Given the description of an element on the screen output the (x, y) to click on. 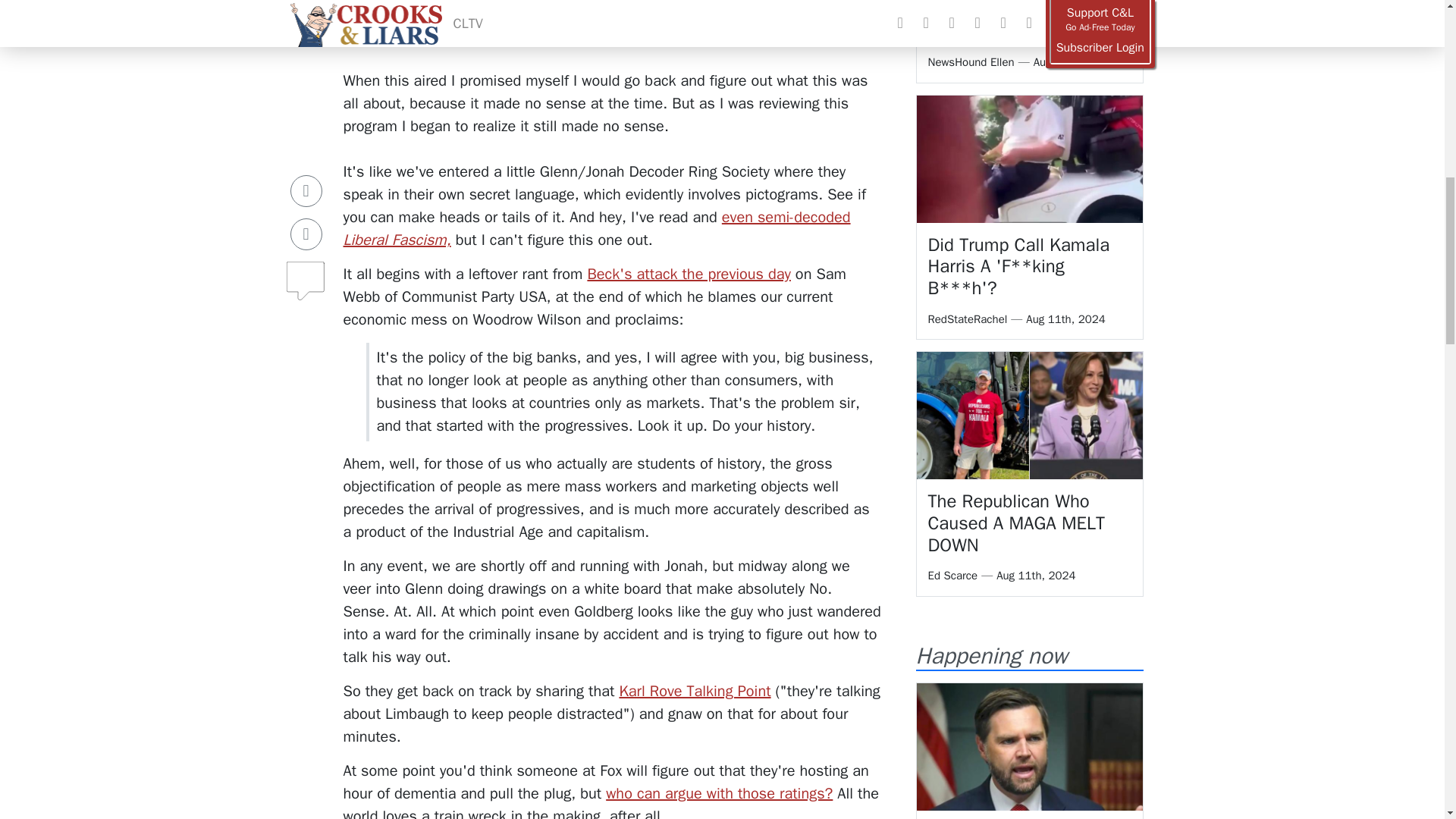
even semi-decoded Liberal Fascism, (596, 228)
Quicktime (410, 35)
who can argue with those ratings? (718, 793)
Beck's attack the previous day (688, 273)
Karl Rove Talking Point (694, 691)
WMV (358, 35)
